Given the description of an element on the screen output the (x, y) to click on. 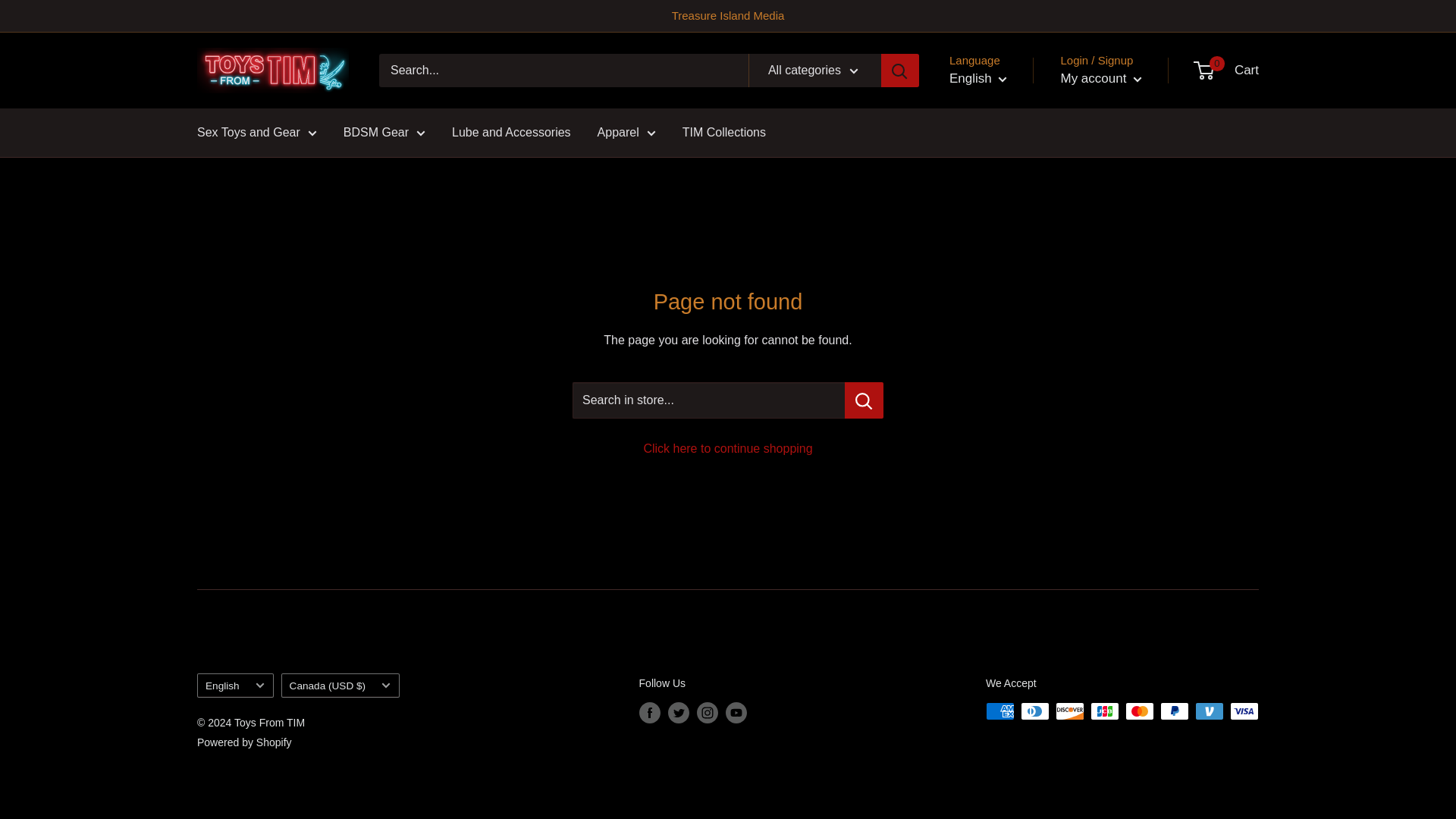
Treasure Island Media (727, 15)
